Given the description of an element on the screen output the (x, y) to click on. 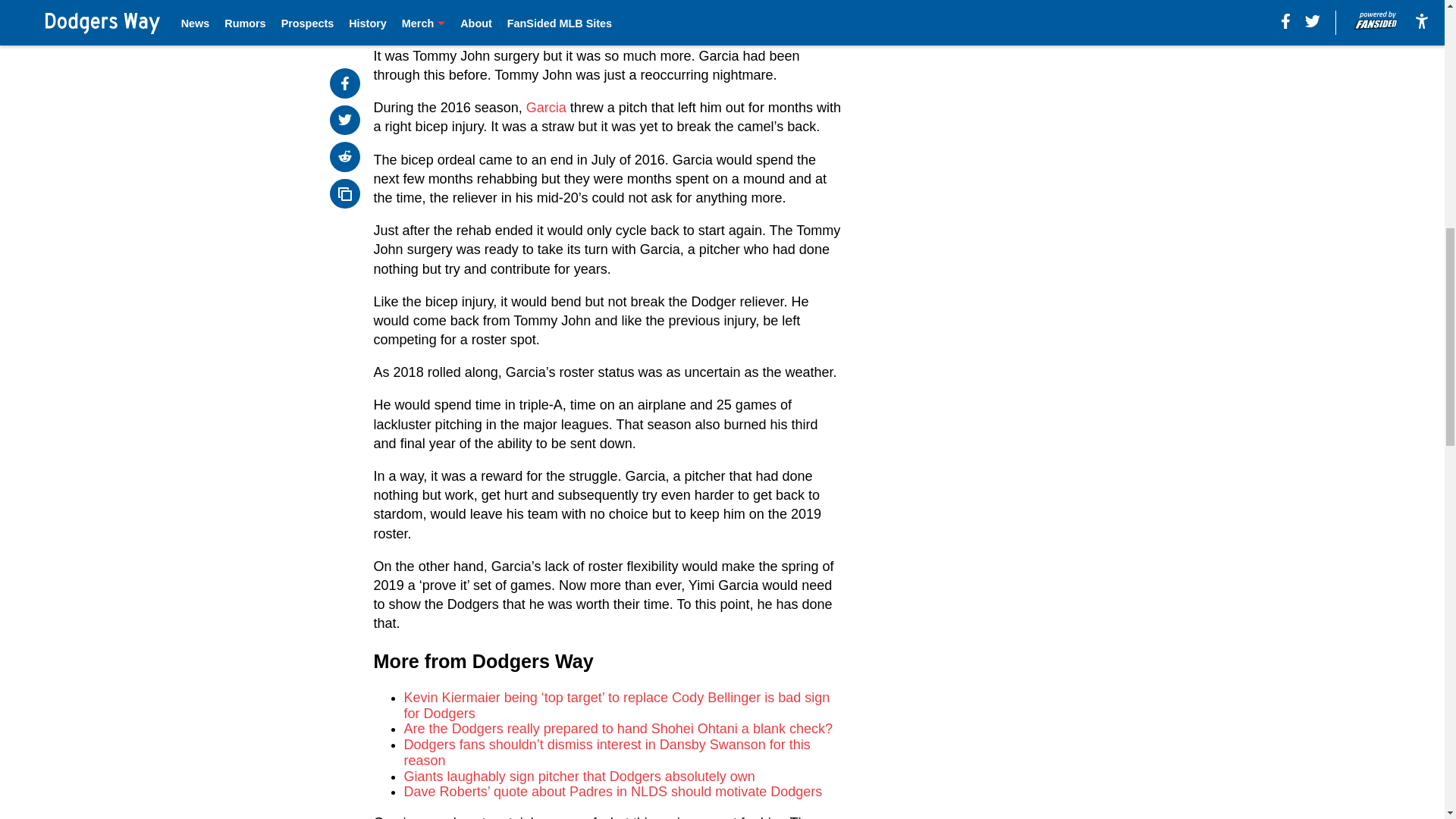
Garcia (545, 107)
Giants laughably sign pitcher that Dodgers absolutely own (579, 776)
